Given the description of an element on the screen output the (x, y) to click on. 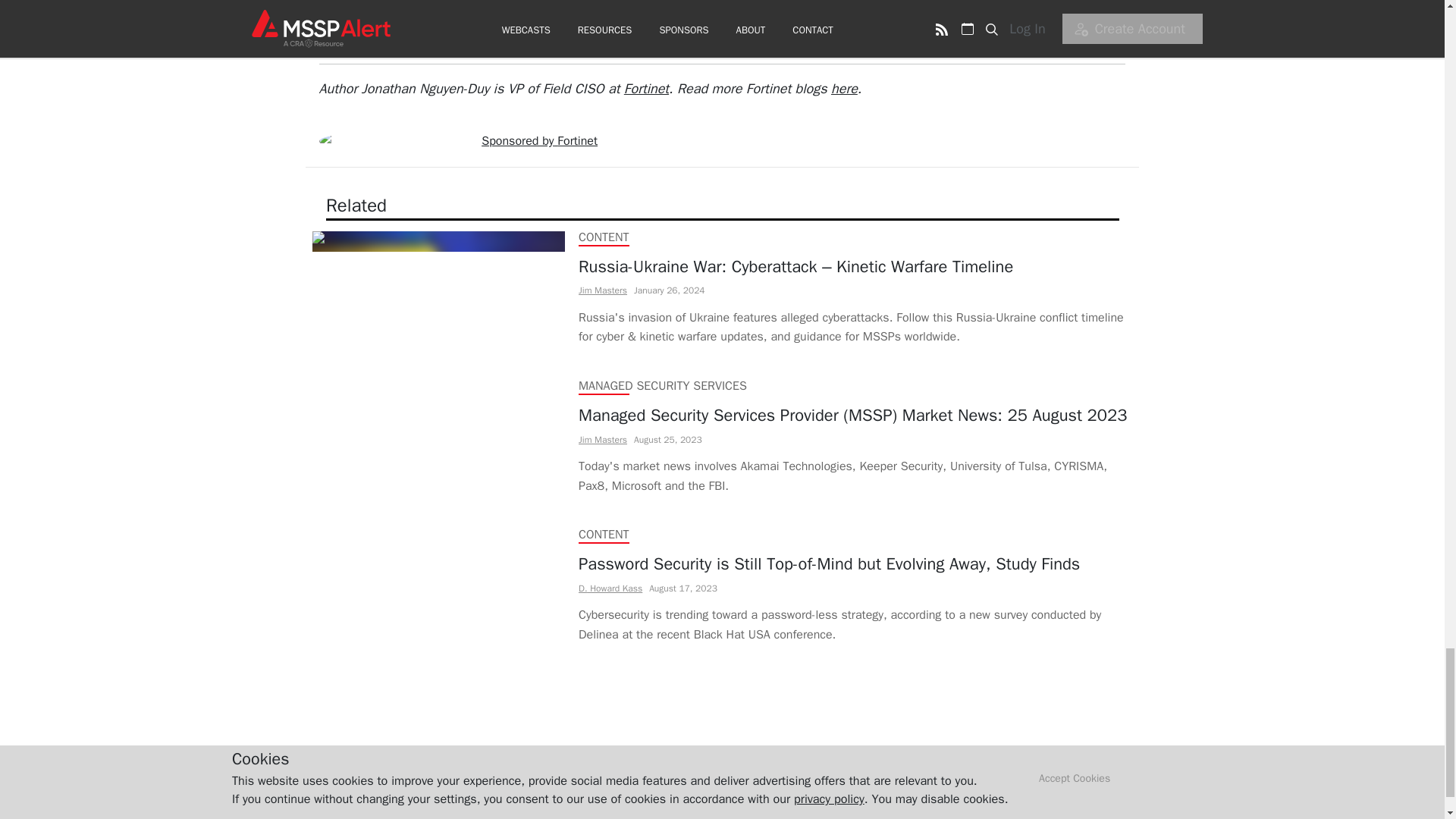
here (844, 88)
CONTENT (603, 237)
Fortinet (646, 88)
CONTENT (603, 534)
D. Howard Kass (610, 588)
Sponsored by Fortinet (538, 140)
MANAGED SECURITY SERVICES (661, 385)
Jim Masters (602, 291)
Jim Masters (602, 439)
